Given the description of an element on the screen output the (x, y) to click on. 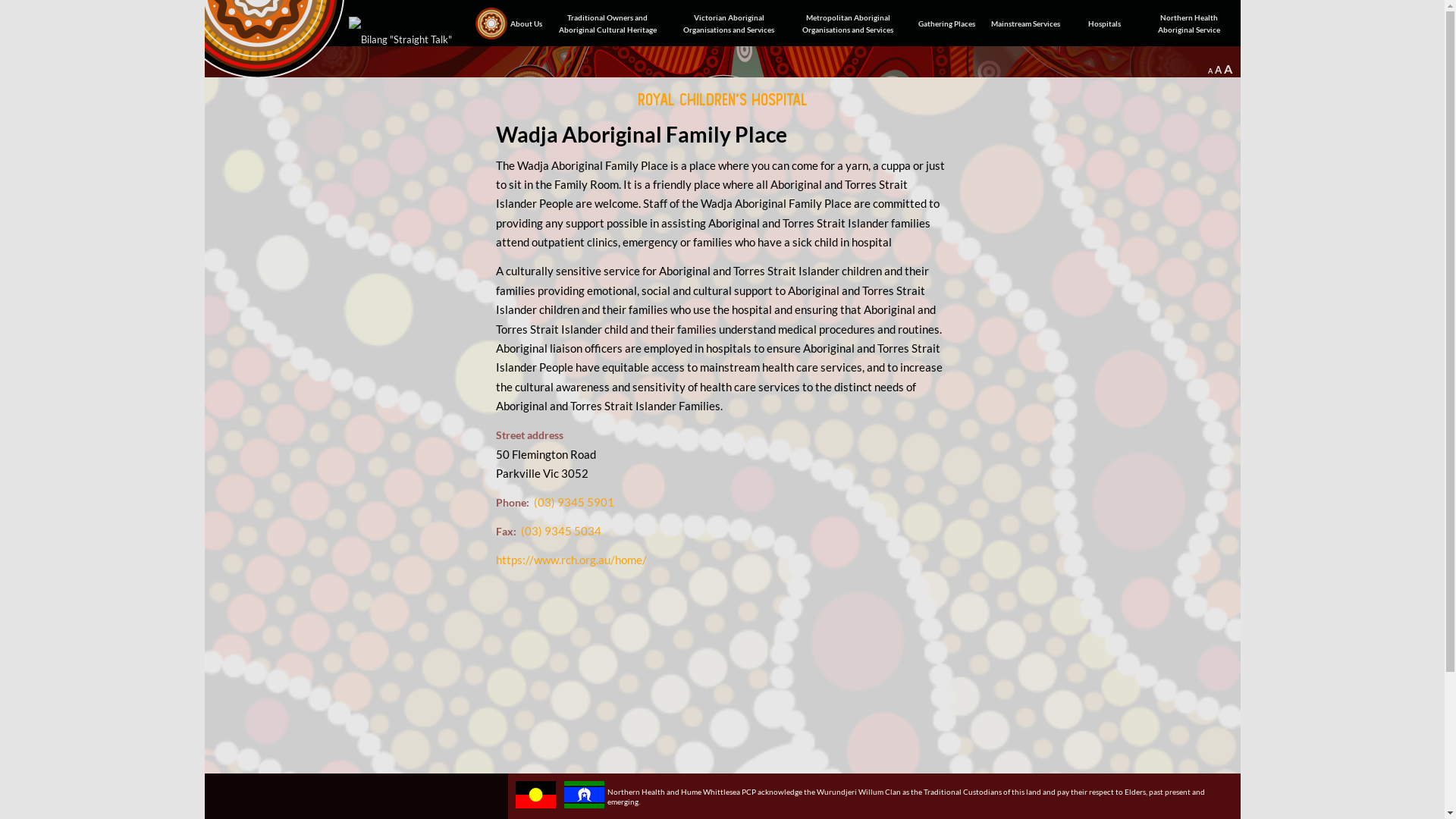
Traditional Owners and Aboriginal Cultural Heritage Element type: text (607, 23)
Mainstream Services Element type: text (1025, 23)
Hospitals Element type: text (1104, 23)
About Us Element type: text (507, 23)
(03) 9345 5901 Element type: text (573, 501)
https://www.rch.org.au/home/ Element type: text (570, 559)
Northern Health Aboriginal Service Element type: text (1189, 23)
A Element type: text (1217, 69)
A Element type: text (1227, 68)
Metropolitan Aboriginal Organisations and Services Element type: text (847, 23)
Victorian Aboriginal Organisations and Services Element type: text (728, 23)
Bilang Straight Talk Element type: hover (404, 34)
A Element type: text (1210, 70)
(03) 9345 5034 Element type: text (560, 530)
Gathering Places Element type: text (946, 23)
